Given the description of an element on the screen output the (x, y) to click on. 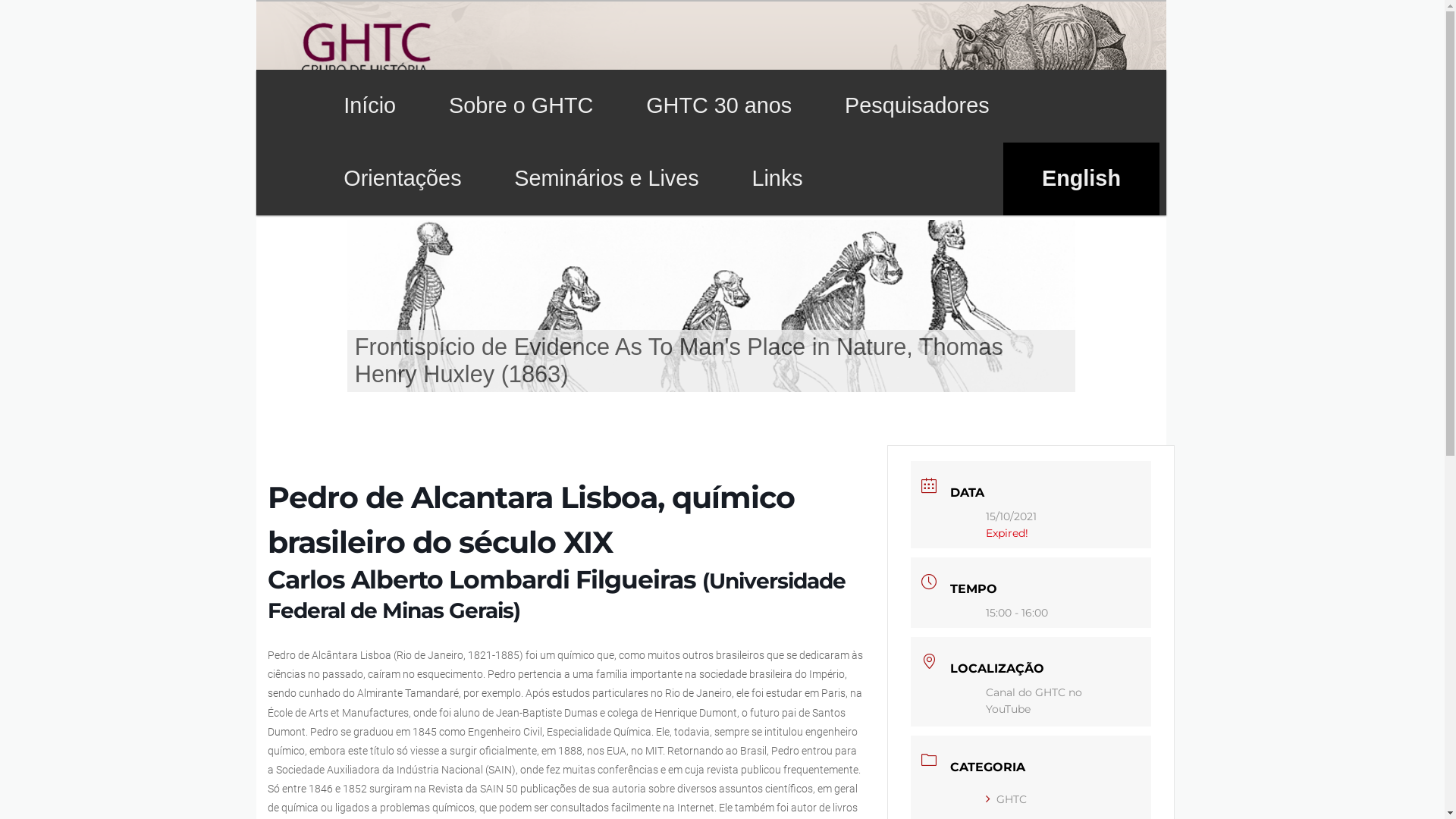
GHTC Element type: text (1005, 799)
Sobre o GHTC Element type: text (520, 105)
GHTC 30 anos Element type: text (718, 105)
Pesquisadores Element type: text (916, 105)
Links Element type: text (777, 178)
Skip to primary content Element type: text (46, 0)
English Element type: text (1081, 178)
